Given the description of an element on the screen output the (x, y) to click on. 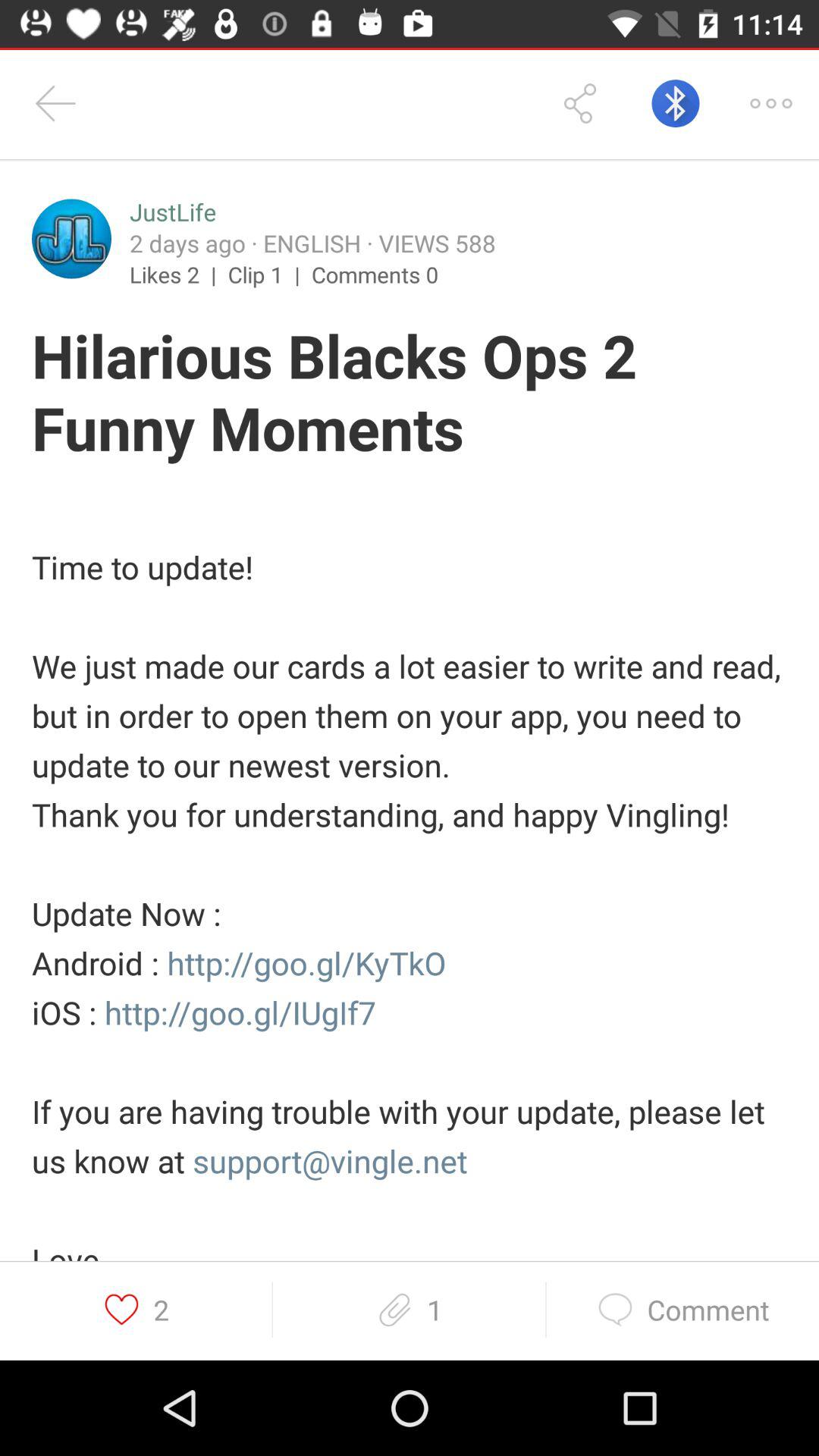
tap the item next to the comments 0 item (269, 274)
